Given the description of an element on the screen output the (x, y) to click on. 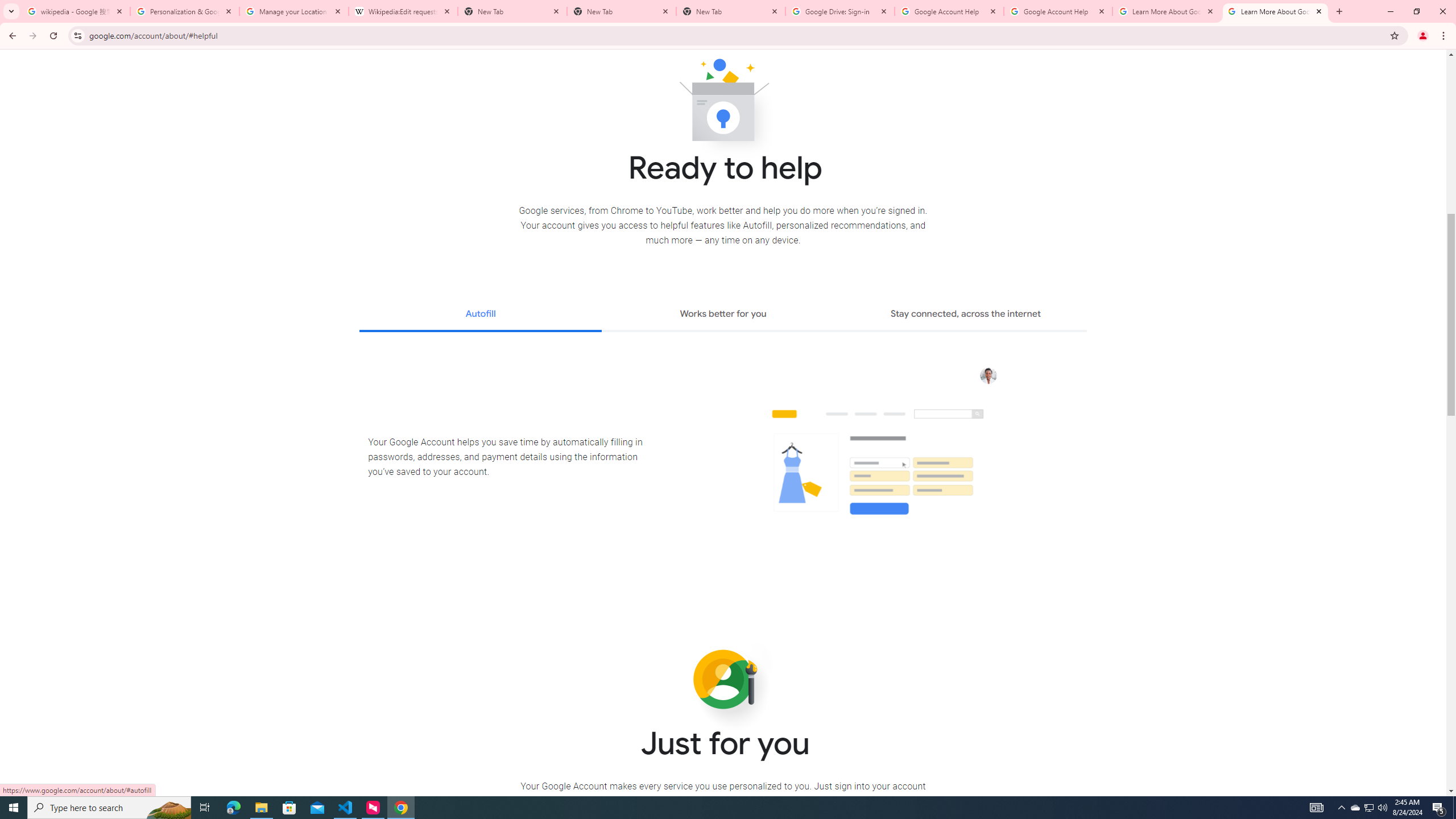
Stay connected, across the internet (965, 315)
Manage your Location History - Google Search Help (293, 11)
New Tab (621, 11)
Personalization & Google Search results - Google Search Help (184, 11)
Ready to help (722, 103)
Google Account Help (949, 11)
Wikipedia:Edit requests - Wikipedia (403, 11)
